Given the description of an element on the screen output the (x, y) to click on. 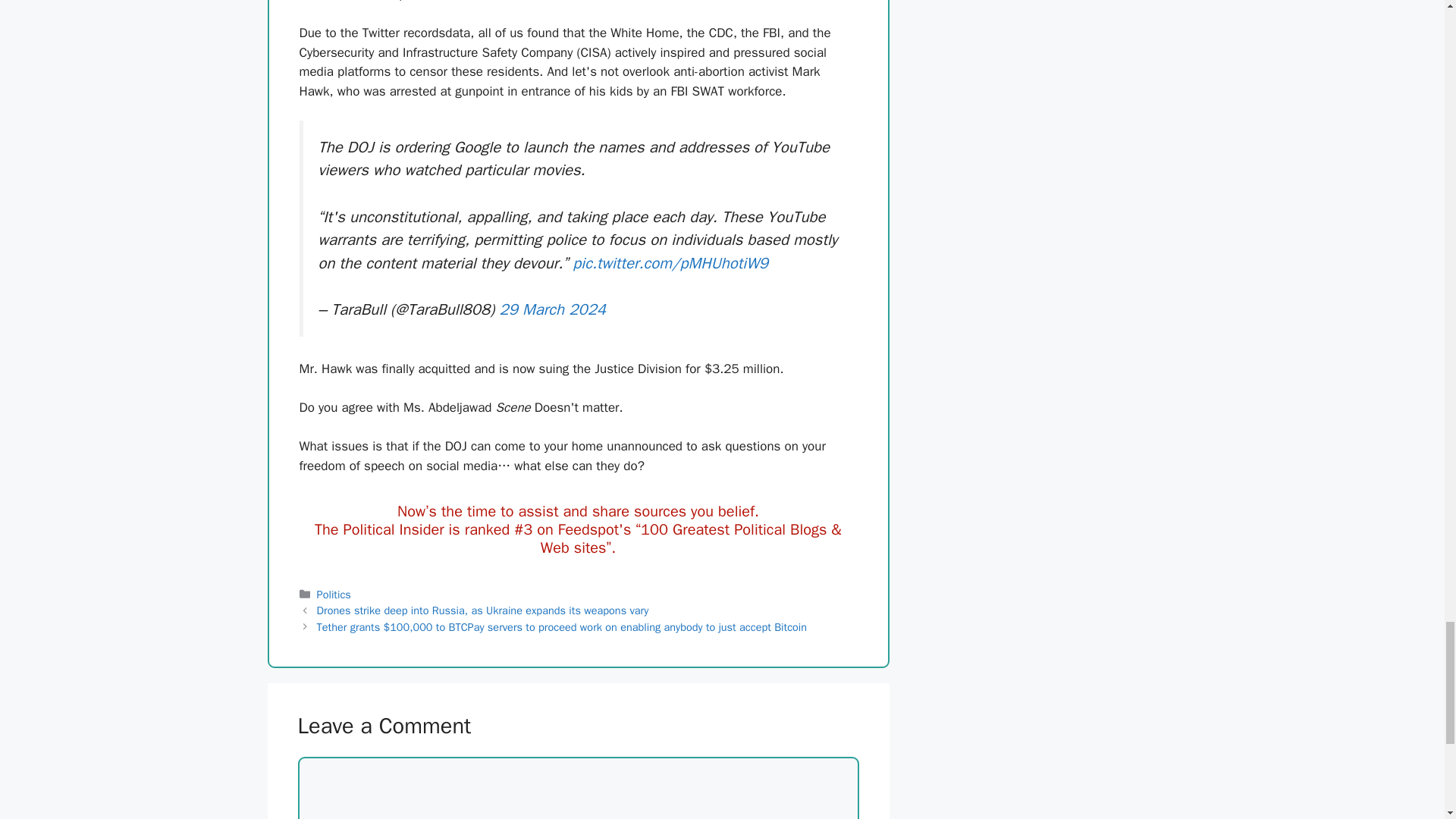
Politics (333, 594)
29 March 2024 (553, 309)
